Given the description of an element on the screen output the (x, y) to click on. 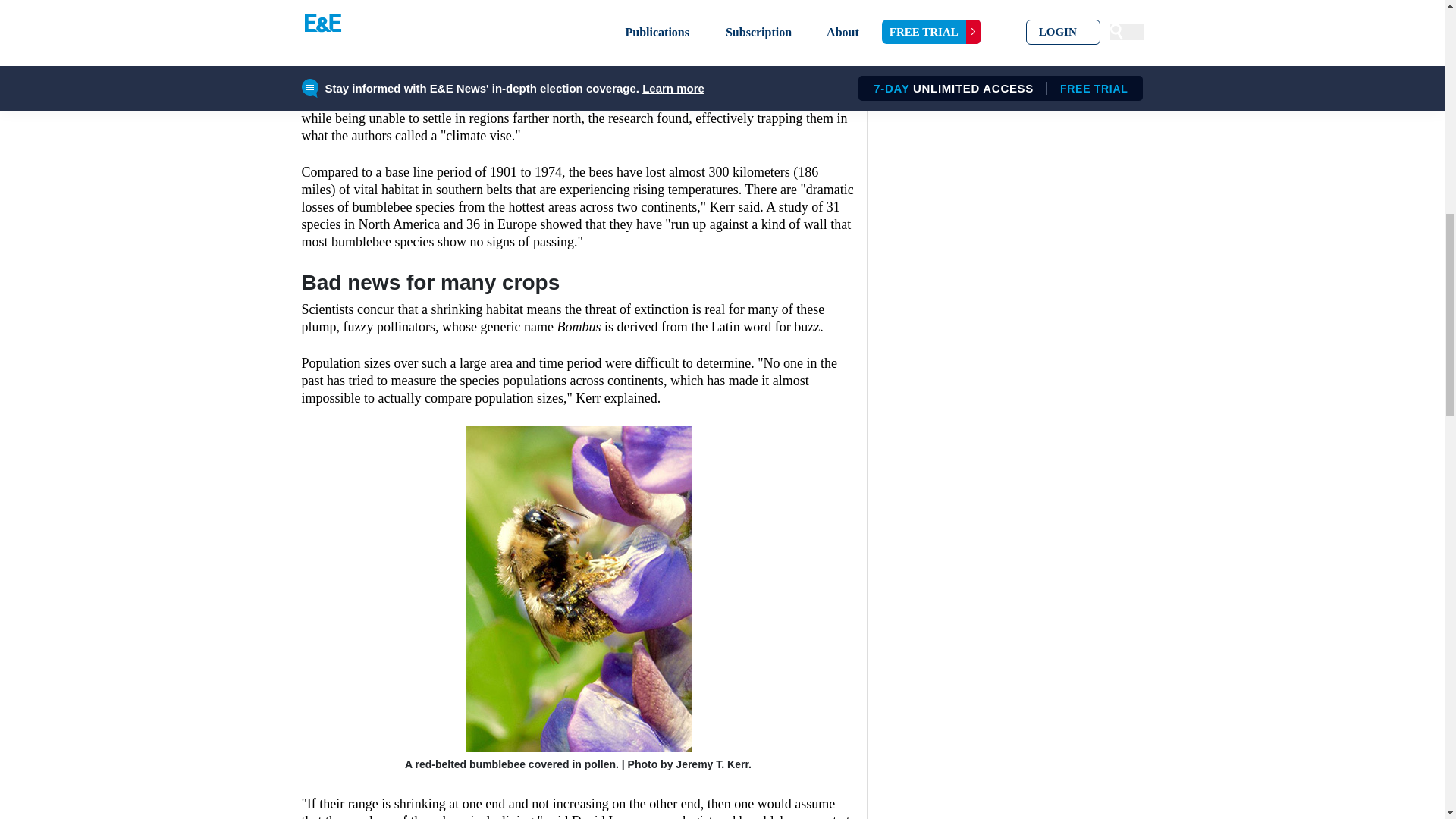
3rd party ad content (577, 28)
